Given the description of an element on the screen output the (x, y) to click on. 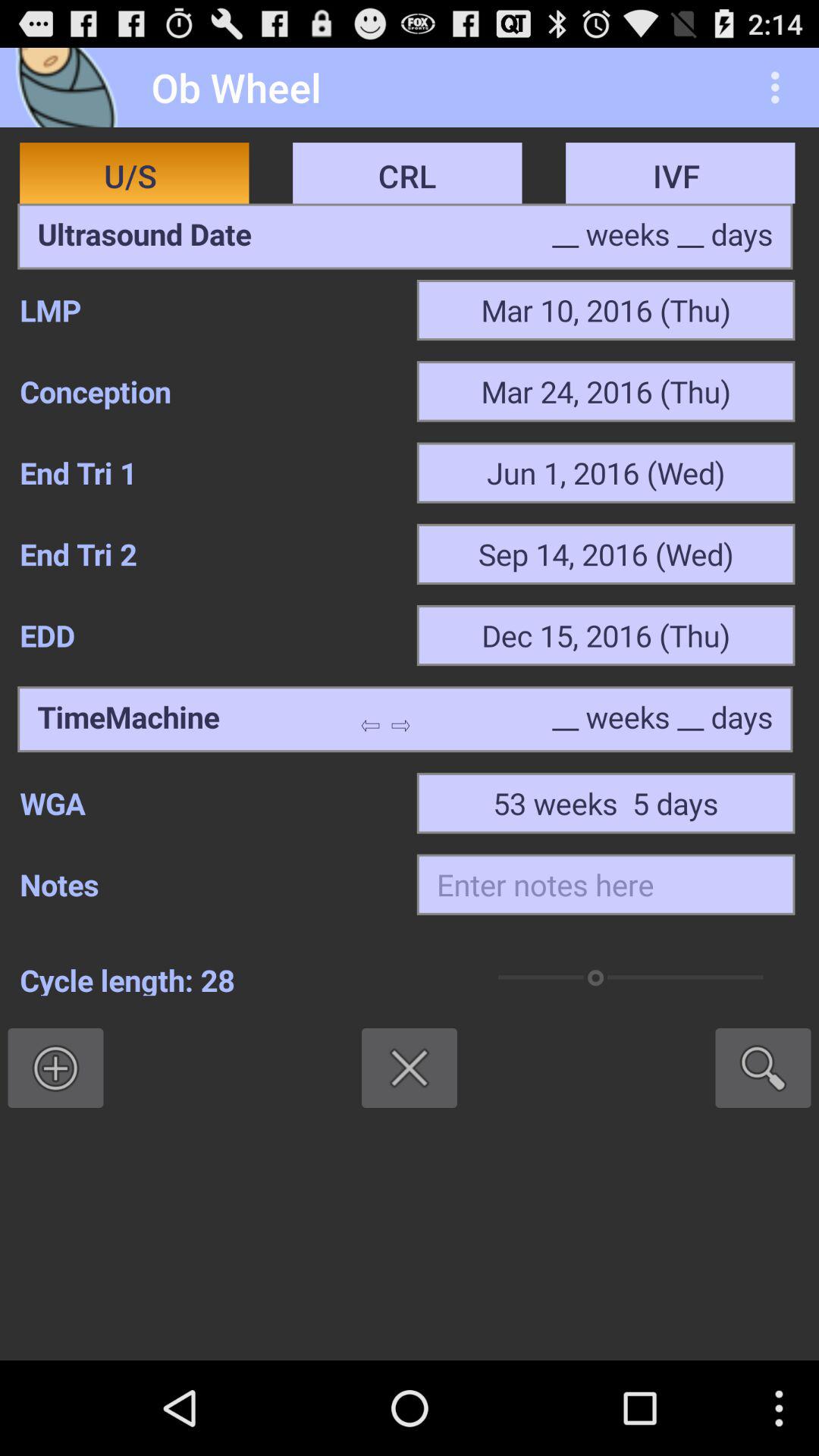
scroll to sep 14 2016 icon (605, 553)
